Given the description of an element on the screen output the (x, y) to click on. 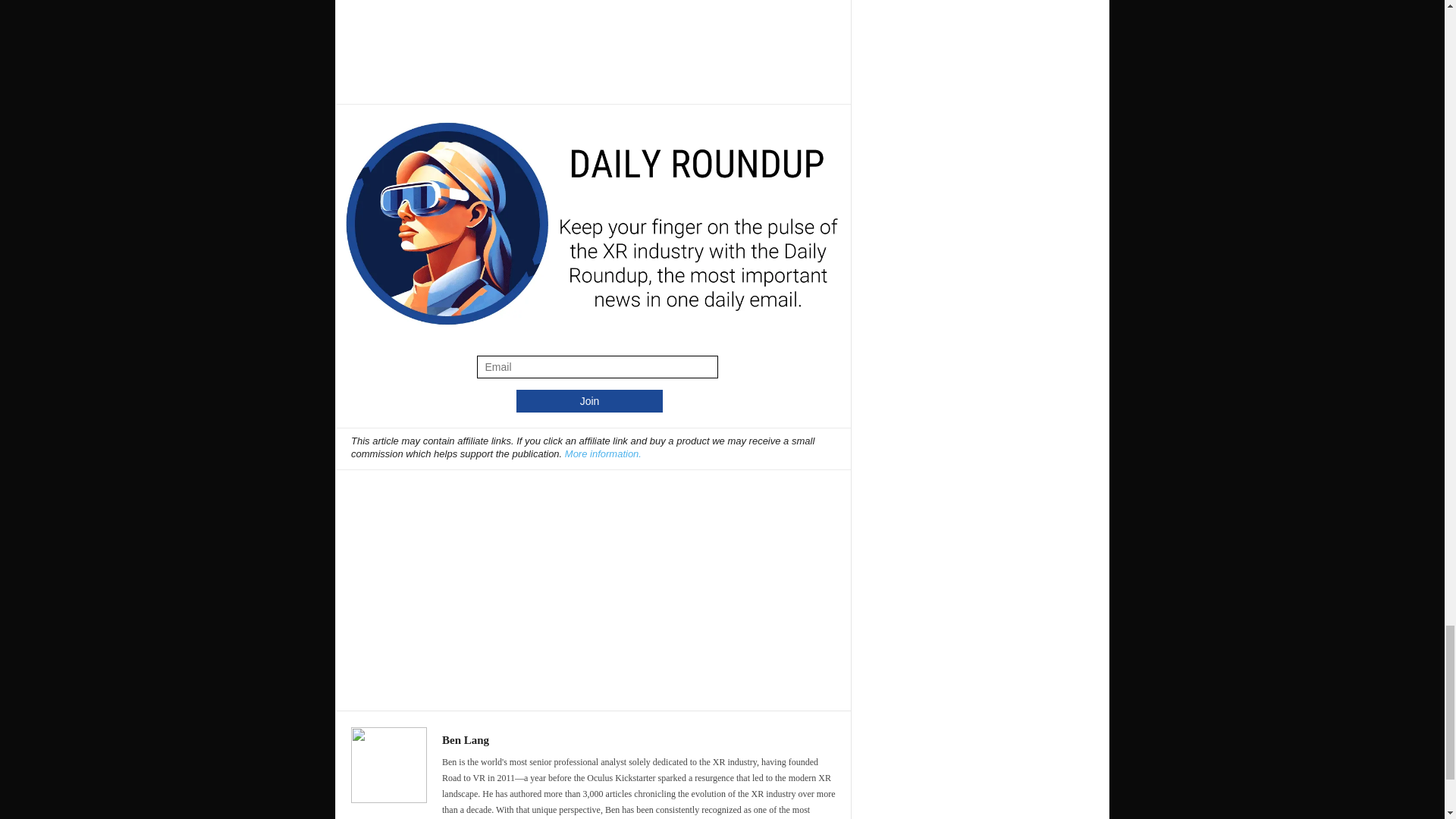
3rd party ad content (593, 582)
Join (589, 400)
